Given the description of an element on the screen output the (x, y) to click on. 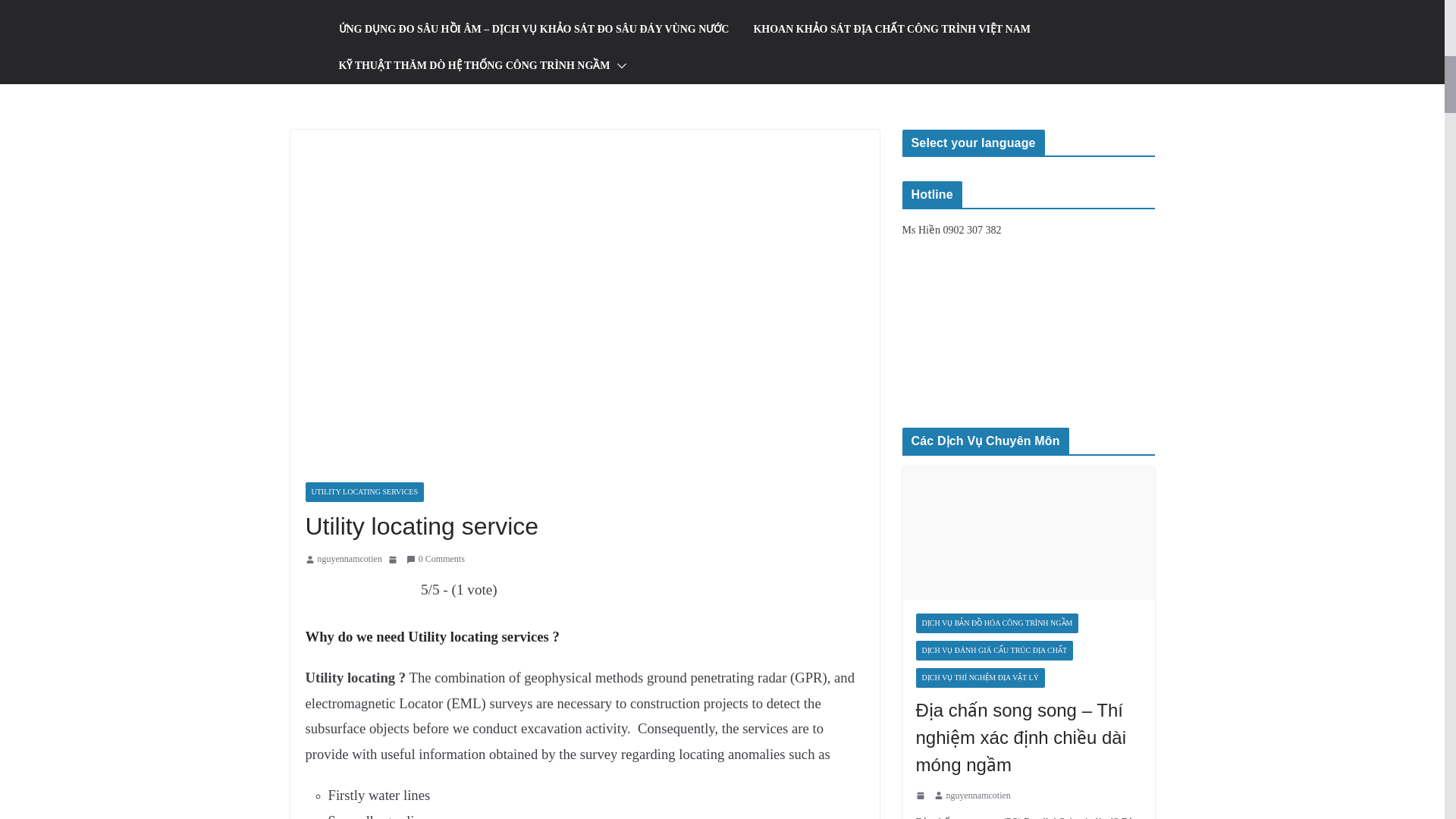
nguyennamcotien (978, 795)
nguyennamcotien (978, 795)
UTILITY LOCATING SERVICES (363, 492)
nguyennamcotien (349, 559)
0 Comments (435, 559)
nguyennamcotien (349, 559)
